Given the description of an element on the screen output the (x, y) to click on. 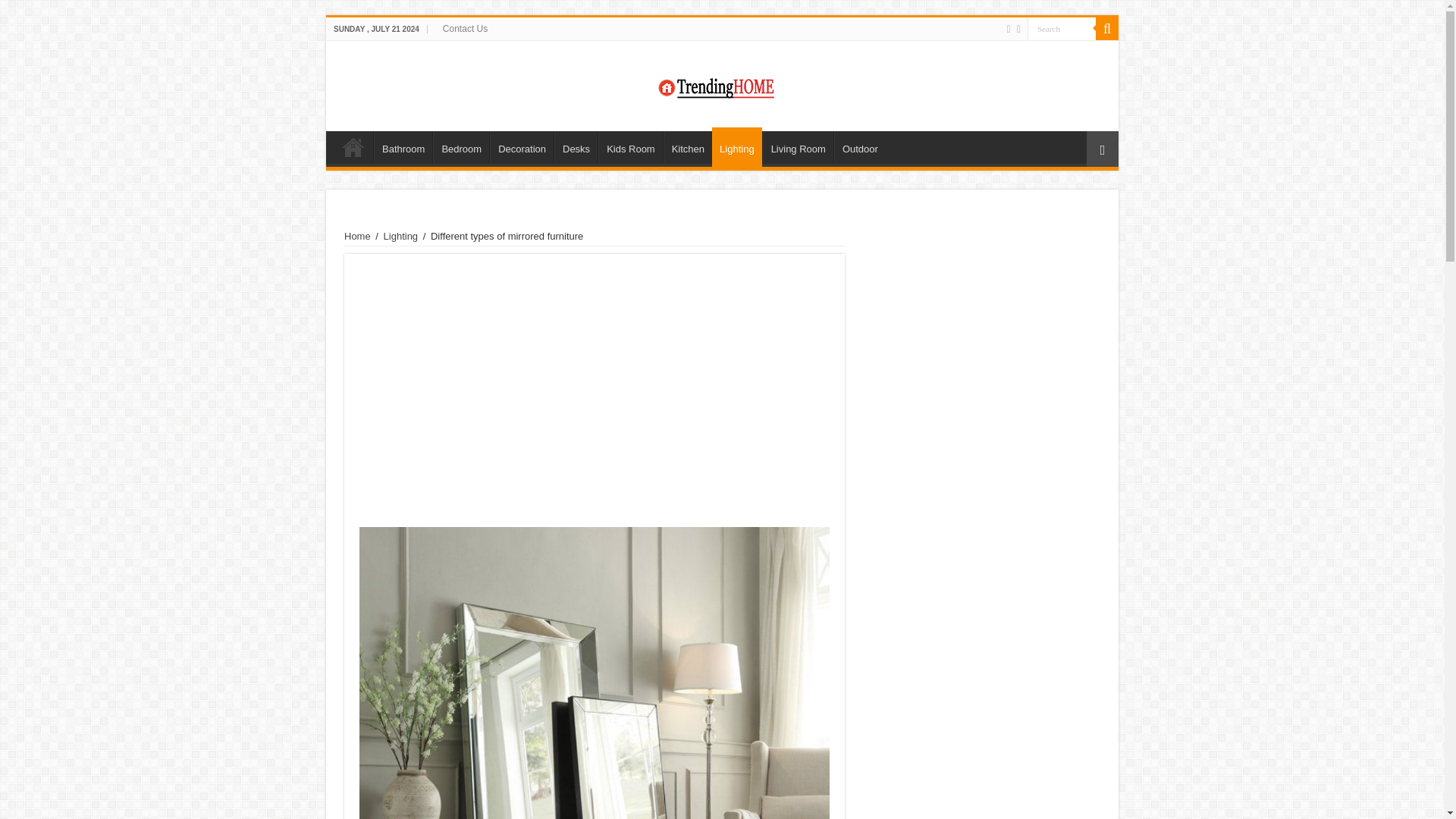
Search (1107, 28)
Bathroom (403, 146)
Search (1061, 28)
Decoration (521, 146)
Desks (575, 146)
Search (1061, 28)
Lighting (736, 147)
Kids Room (630, 146)
Flower Love (721, 85)
Home (352, 146)
Home (357, 235)
Kitchen (687, 146)
Living Room (797, 146)
Advertisement (594, 386)
